Given the description of an element on the screen output the (x, y) to click on. 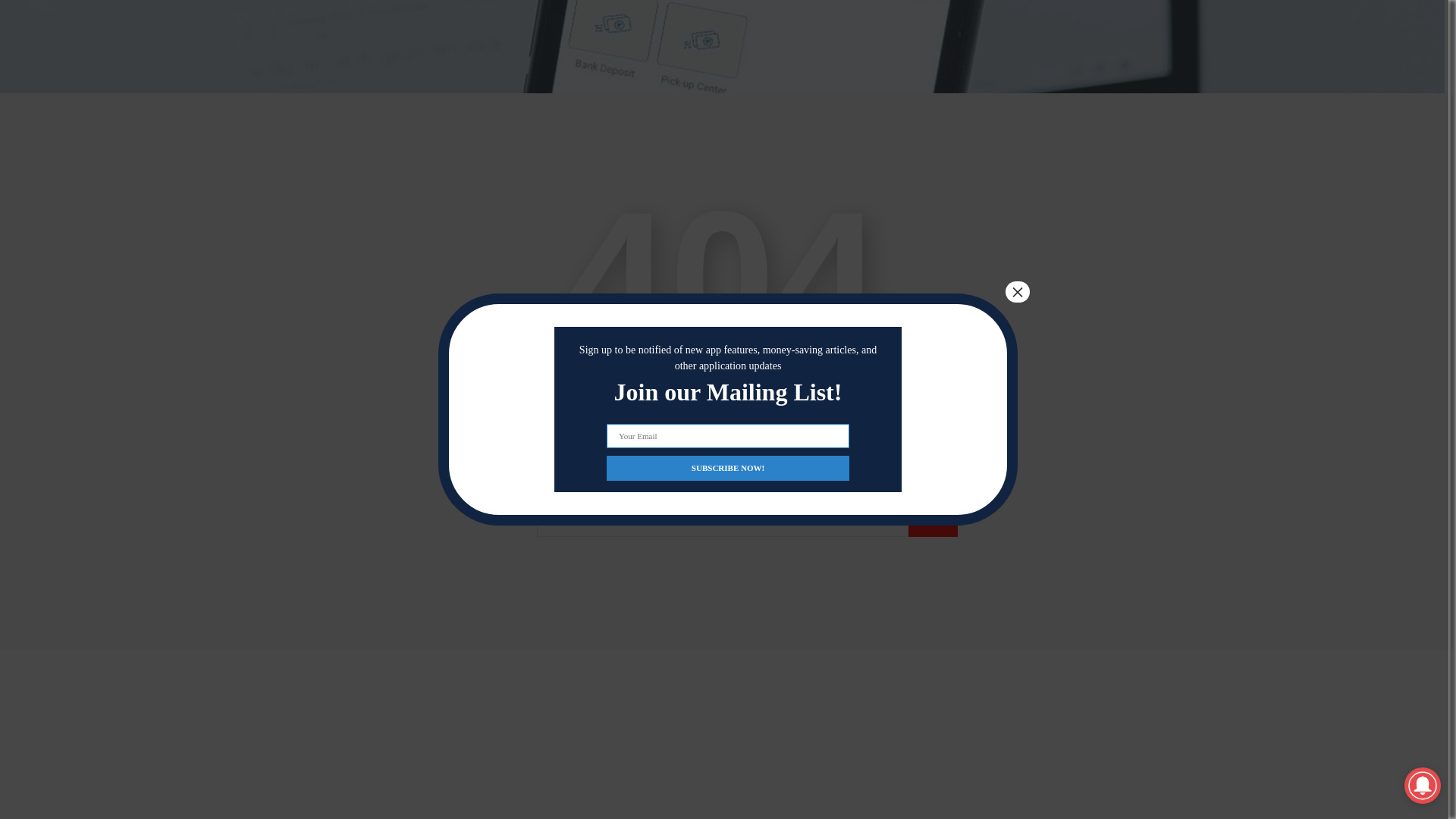
Search (933, 521)
SUBSCRIBE NOW! (727, 285)
Search (933, 521)
Search (933, 521)
VISIT HOMEPAGE (722, 422)
SUBSCRIBE NOW! (727, 285)
